Given the description of an element on the screen output the (x, y) to click on. 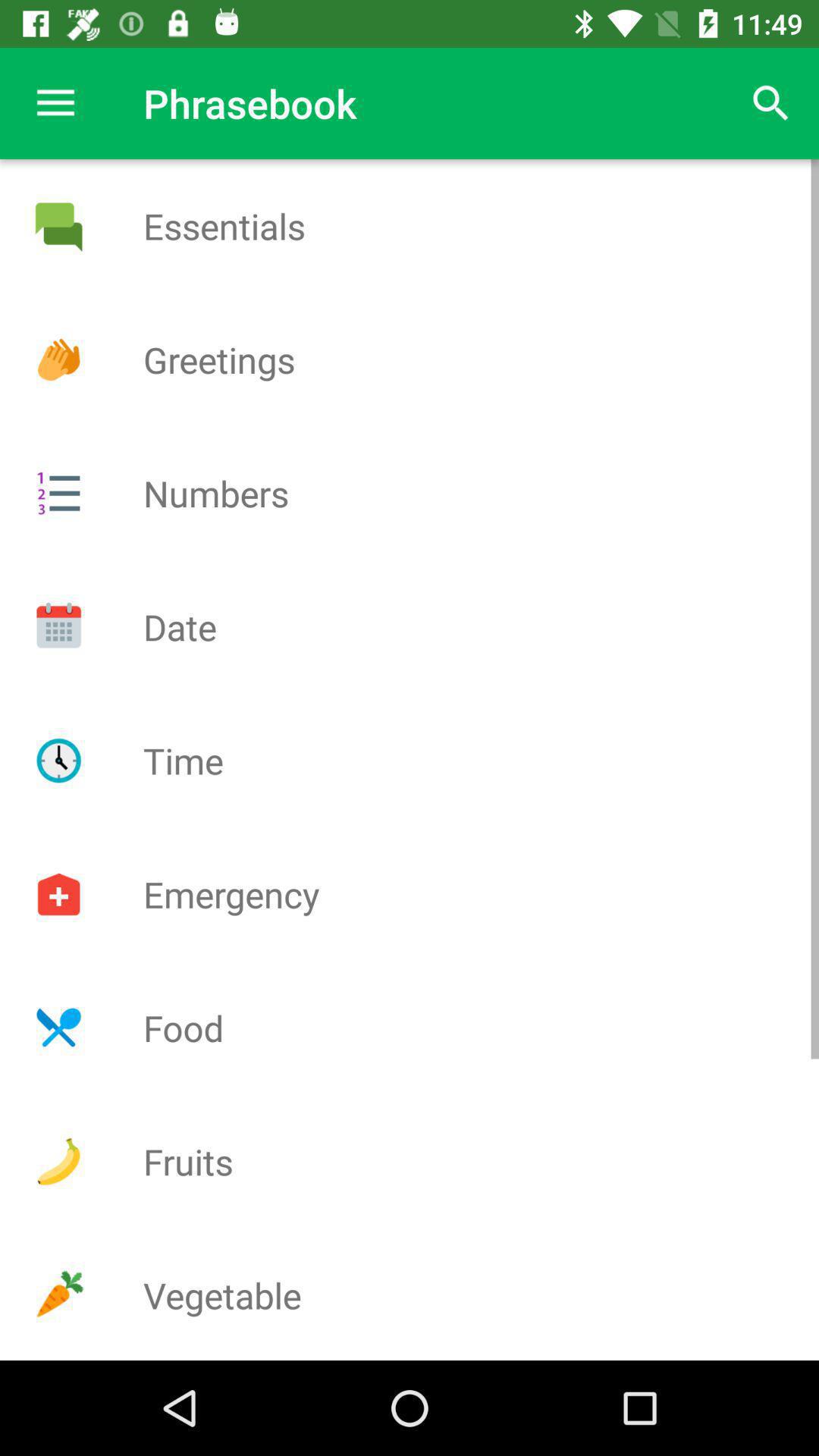
food phrases (58, 1027)
